Given the description of an element on the screen output the (x, y) to click on. 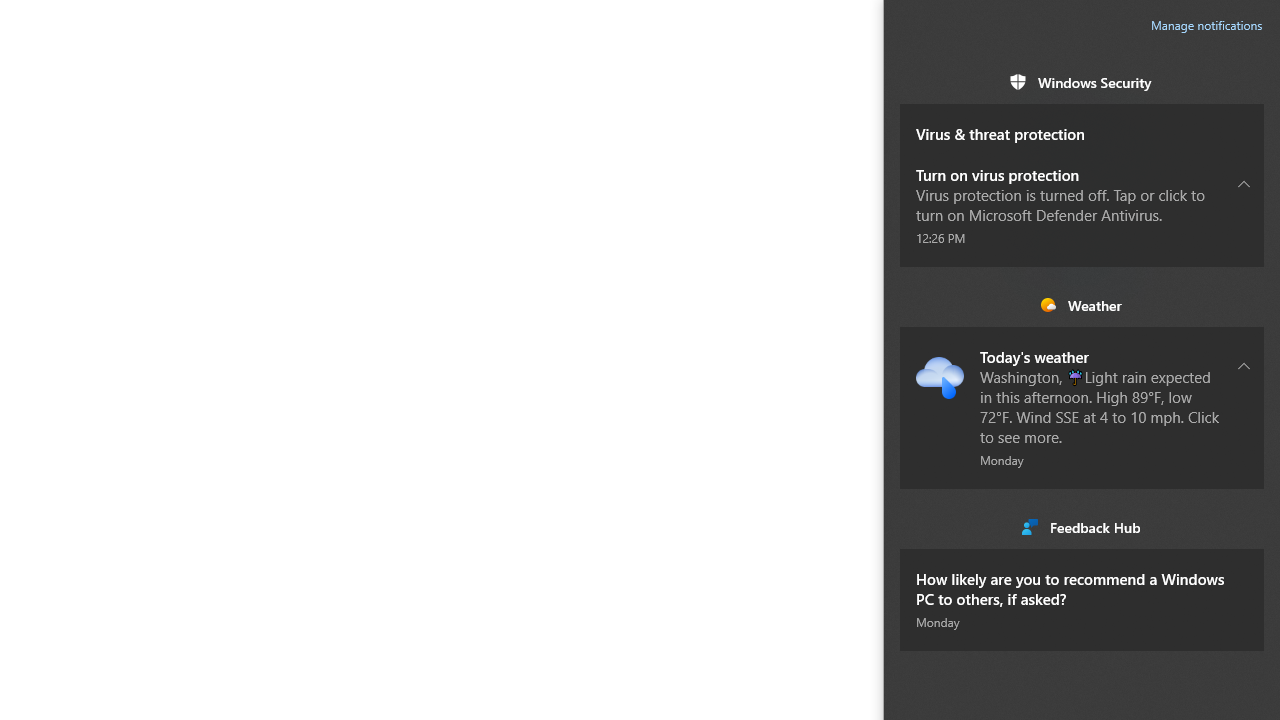
Clear all notifications for Virus & threat protection (1244, 123)
Clear all notifications for Windows Security (1244, 82)
Clear all notifications for Weather (1244, 305)
Virus & threat protection. . Received on . Subgroup. (1081, 123)
Settings for this notification (1244, 588)
Clear this notification (1244, 568)
Collapse this notification (1244, 365)
Clear all notifications for Feedback Hub (1244, 526)
Manage notifications (1206, 25)
